Given the description of an element on the screen output the (x, y) to click on. 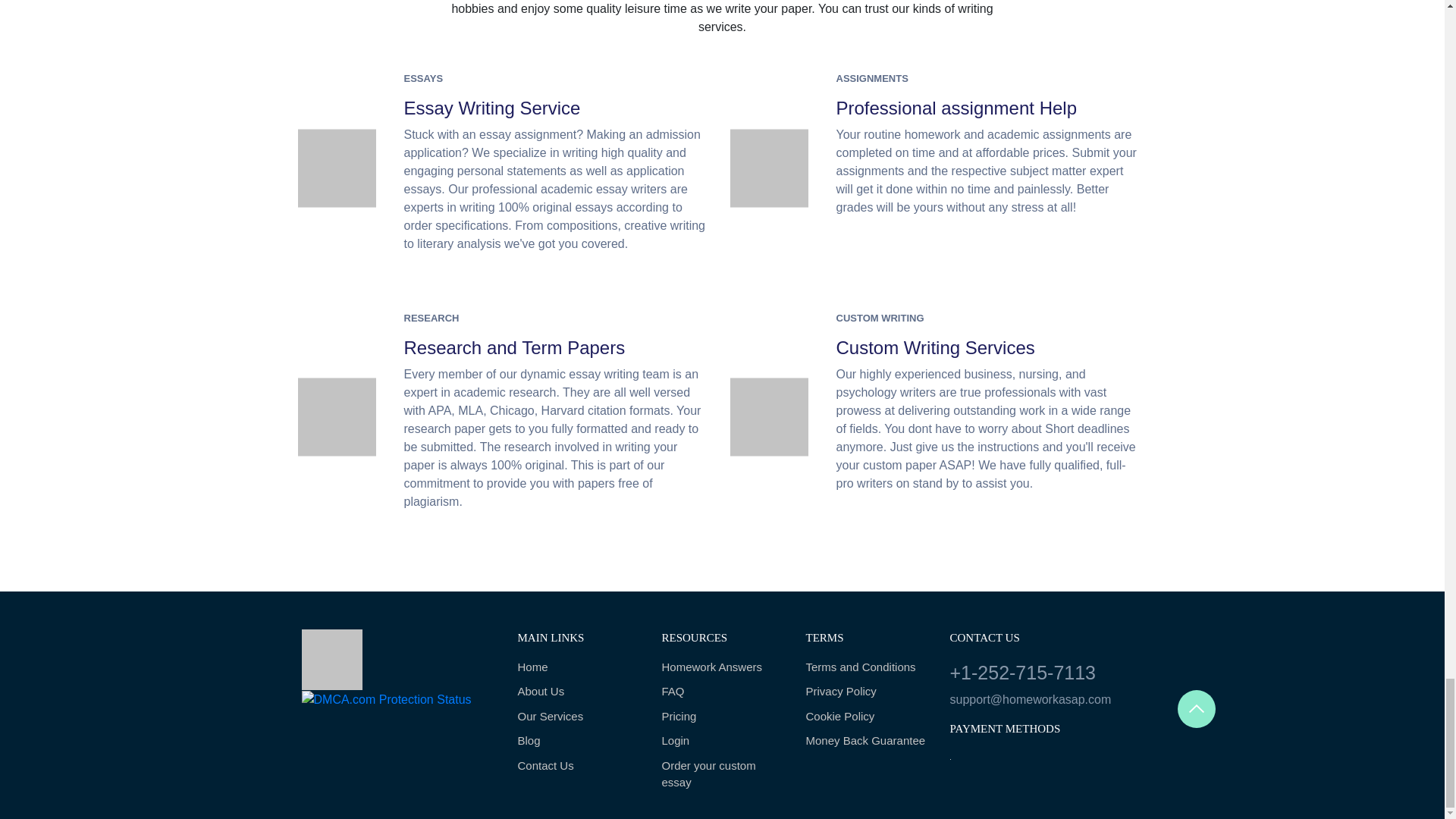
Privacy Policy (865, 692)
Our Services (577, 716)
Contact Us (577, 765)
FAQ (722, 692)
Cookie Policy (865, 716)
About Us (577, 692)
Pricing (722, 716)
Money Back Guarantee (865, 741)
Order your custom essay (722, 774)
Home (577, 667)
Login (722, 741)
Blog (577, 741)
Homework Answers (722, 667)
Terms and Conditions (865, 667)
